Given the description of an element on the screen output the (x, y) to click on. 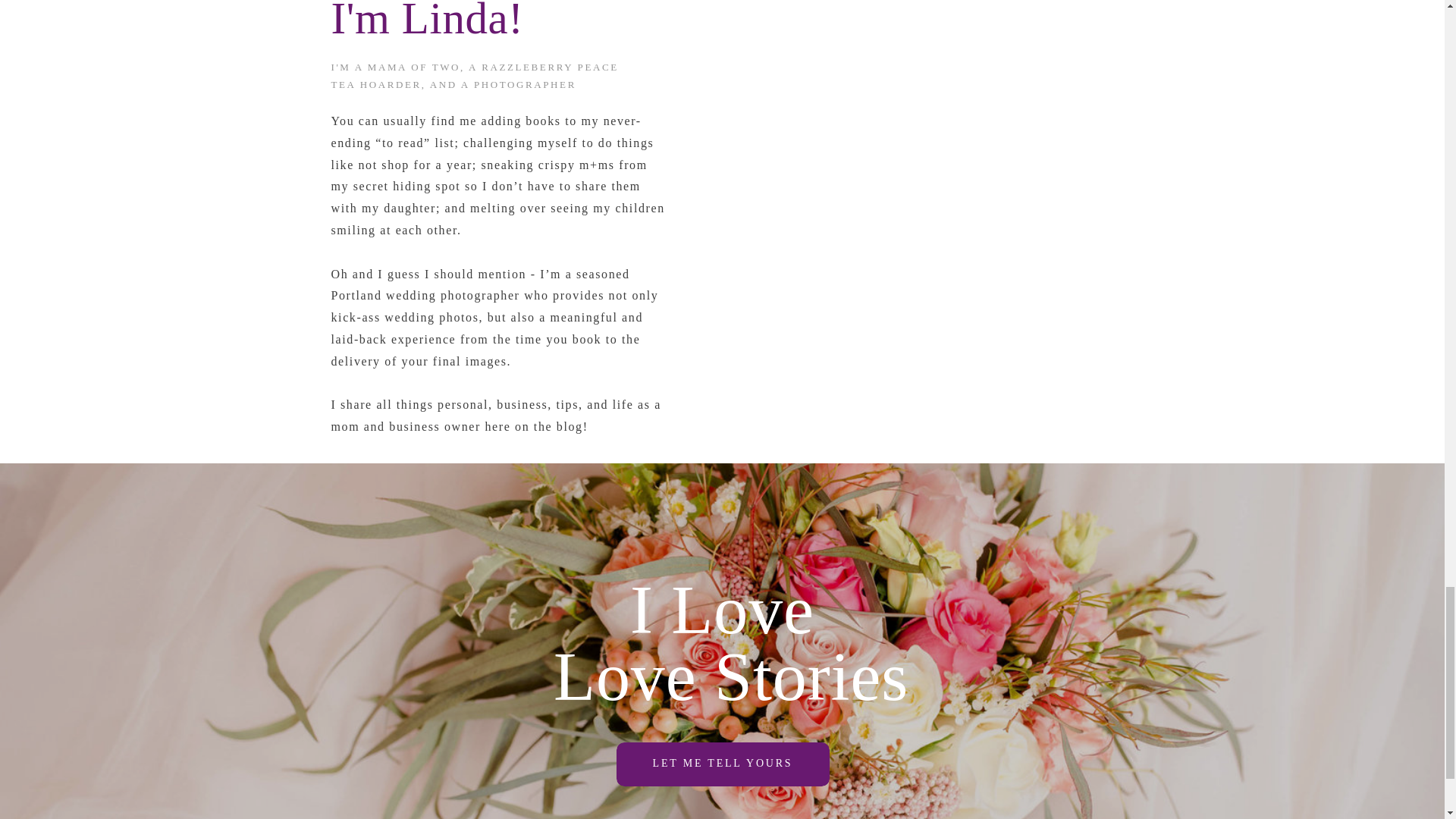
LET ME TELL YOURS (721, 763)
